Given the description of an element on the screen output the (x, y) to click on. 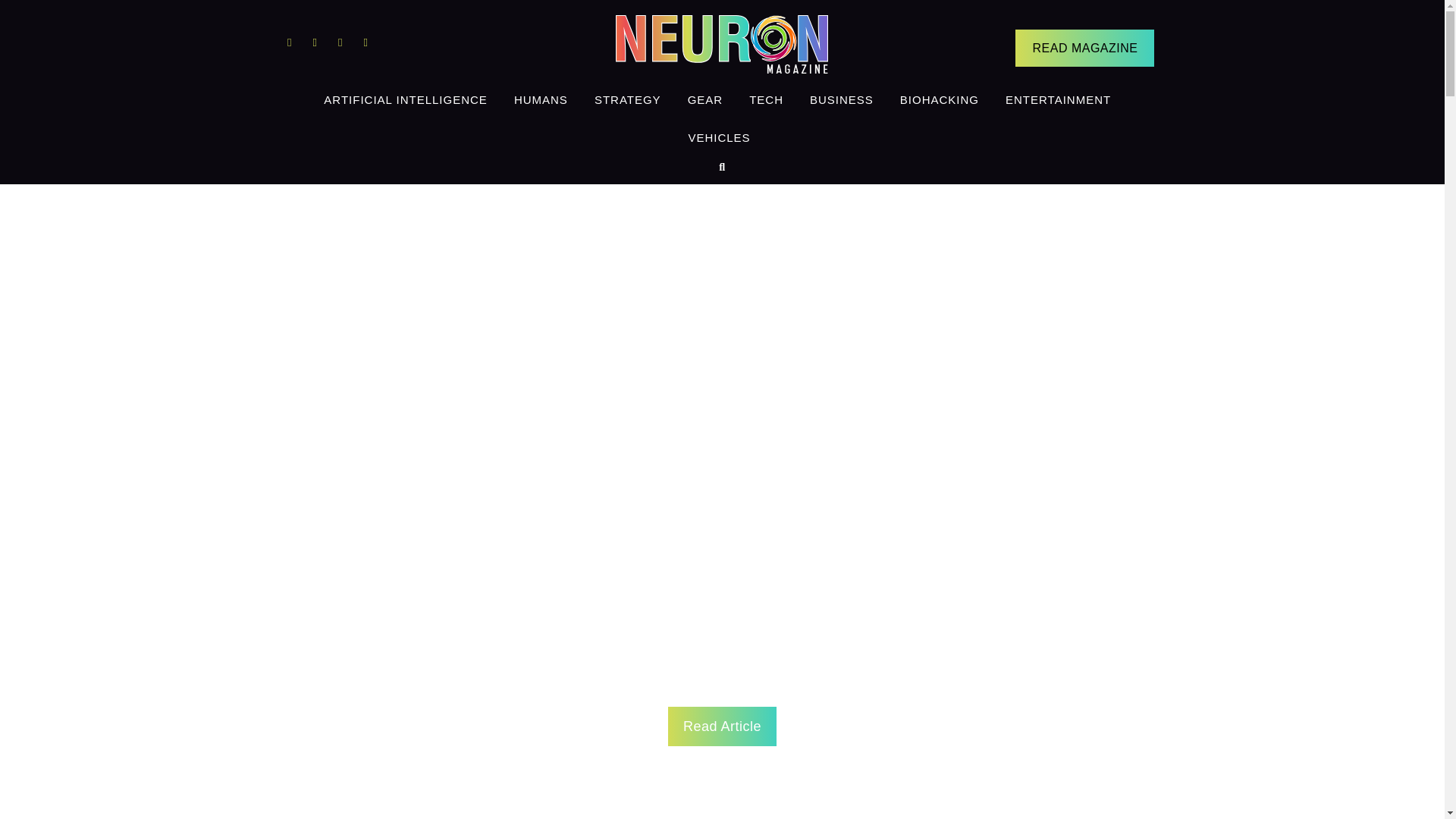
VEHICLES (719, 137)
ENTERTAINMENT (1058, 99)
GEAR (706, 99)
BUSINESS (841, 99)
HUMANS (540, 99)
TECH (766, 99)
STRATEGY (627, 99)
BIOHACKING (939, 99)
READ MAGAZINE (1084, 47)
ARTIFICIAL INTELLIGENCE (406, 99)
